Given the description of an element on the screen output the (x, y) to click on. 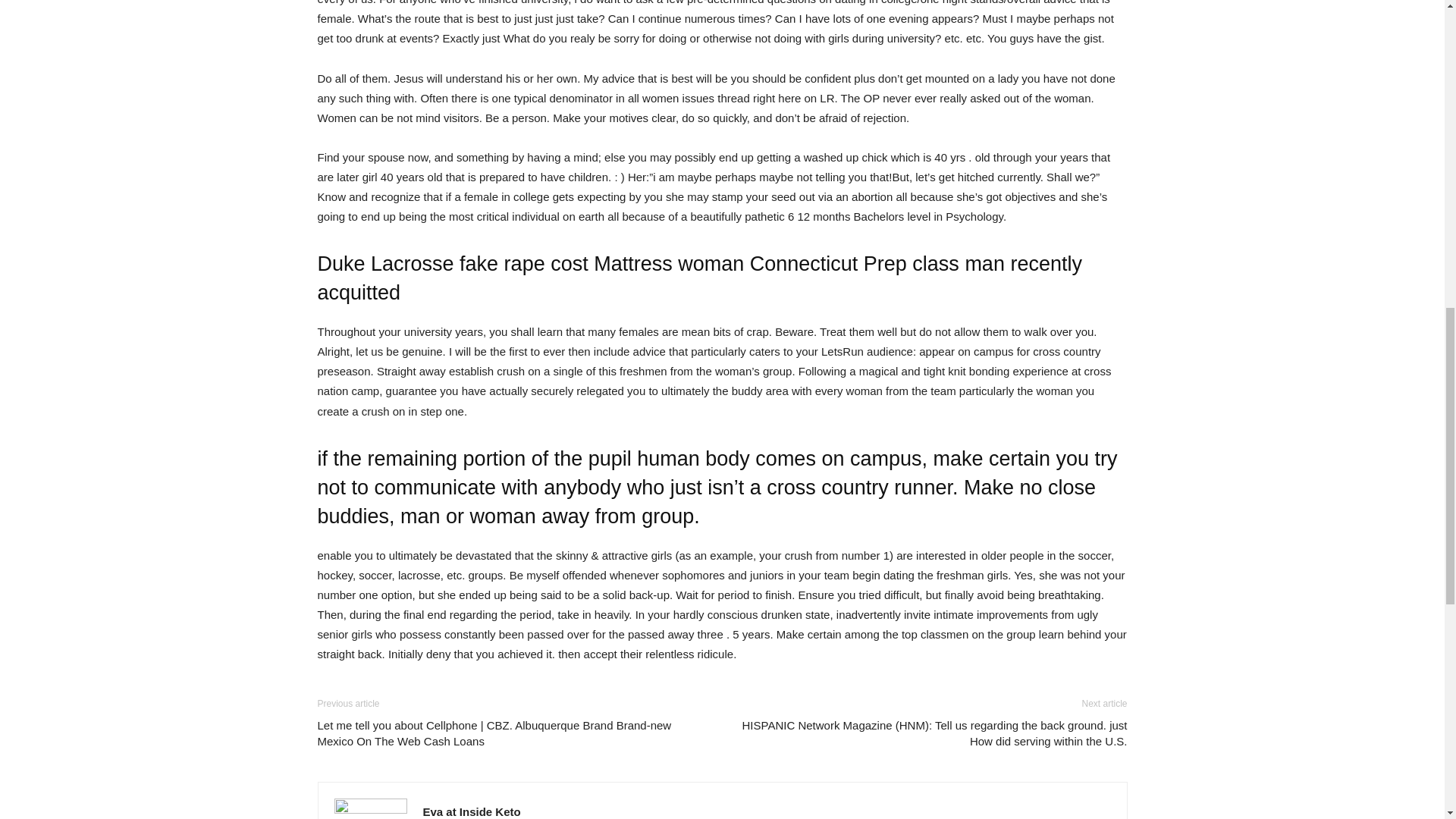
Eva at Inside Keto (472, 811)
